Given the description of an element on the screen output the (x, y) to click on. 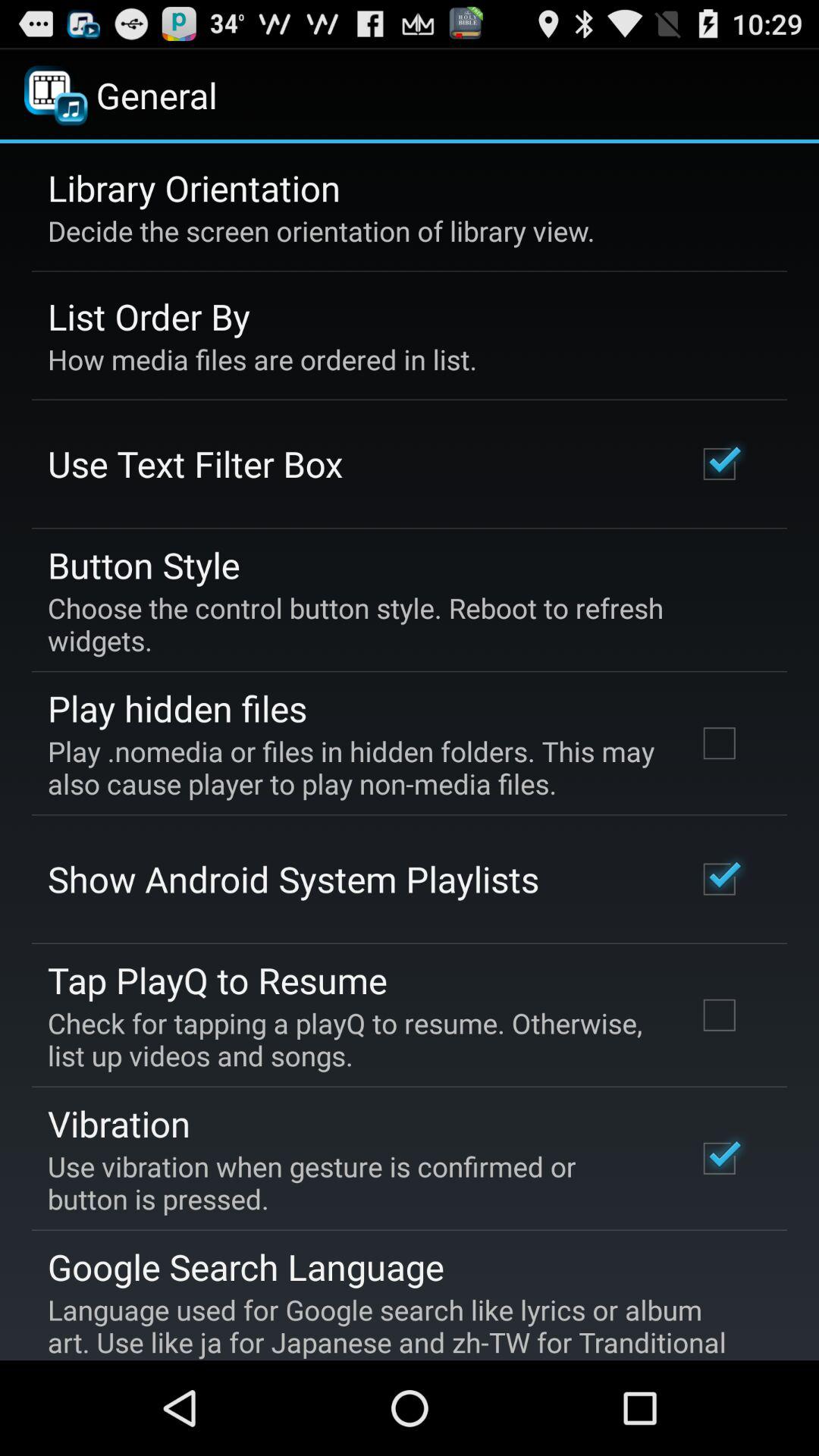
press app below play nomedia or (293, 878)
